Given the description of an element on the screen output the (x, y) to click on. 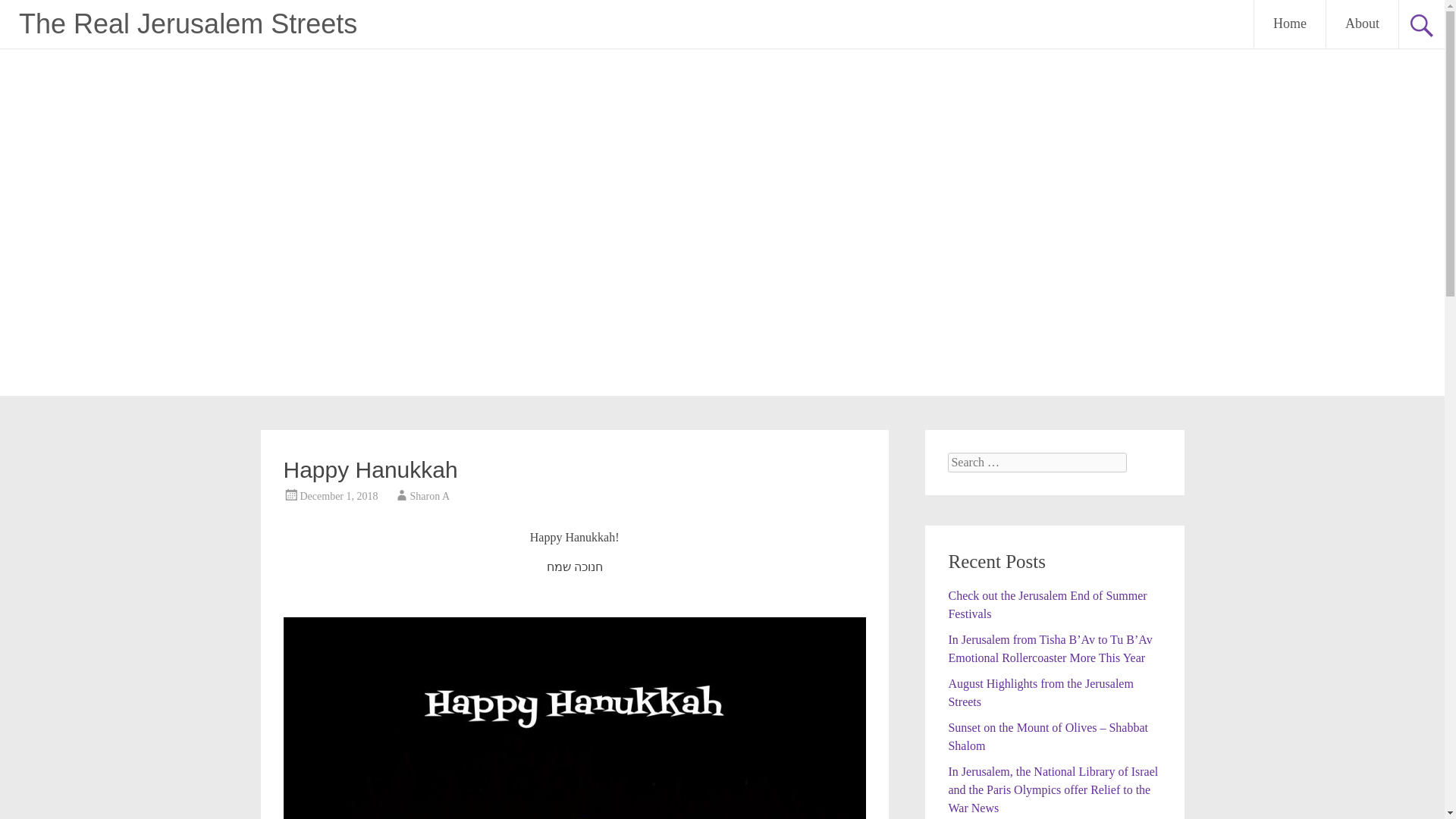
December 1, 2018 (338, 496)
Sharon A (429, 496)
Search (26, 12)
Check out the Jerusalem End of Summer Festivals (1047, 603)
Home (1288, 23)
The Real Jerusalem Streets (187, 23)
August Highlights from the Jerusalem Streets (1039, 692)
The Real Jerusalem Streets (187, 23)
About (1361, 23)
